Given the description of an element on the screen output the (x, y) to click on. 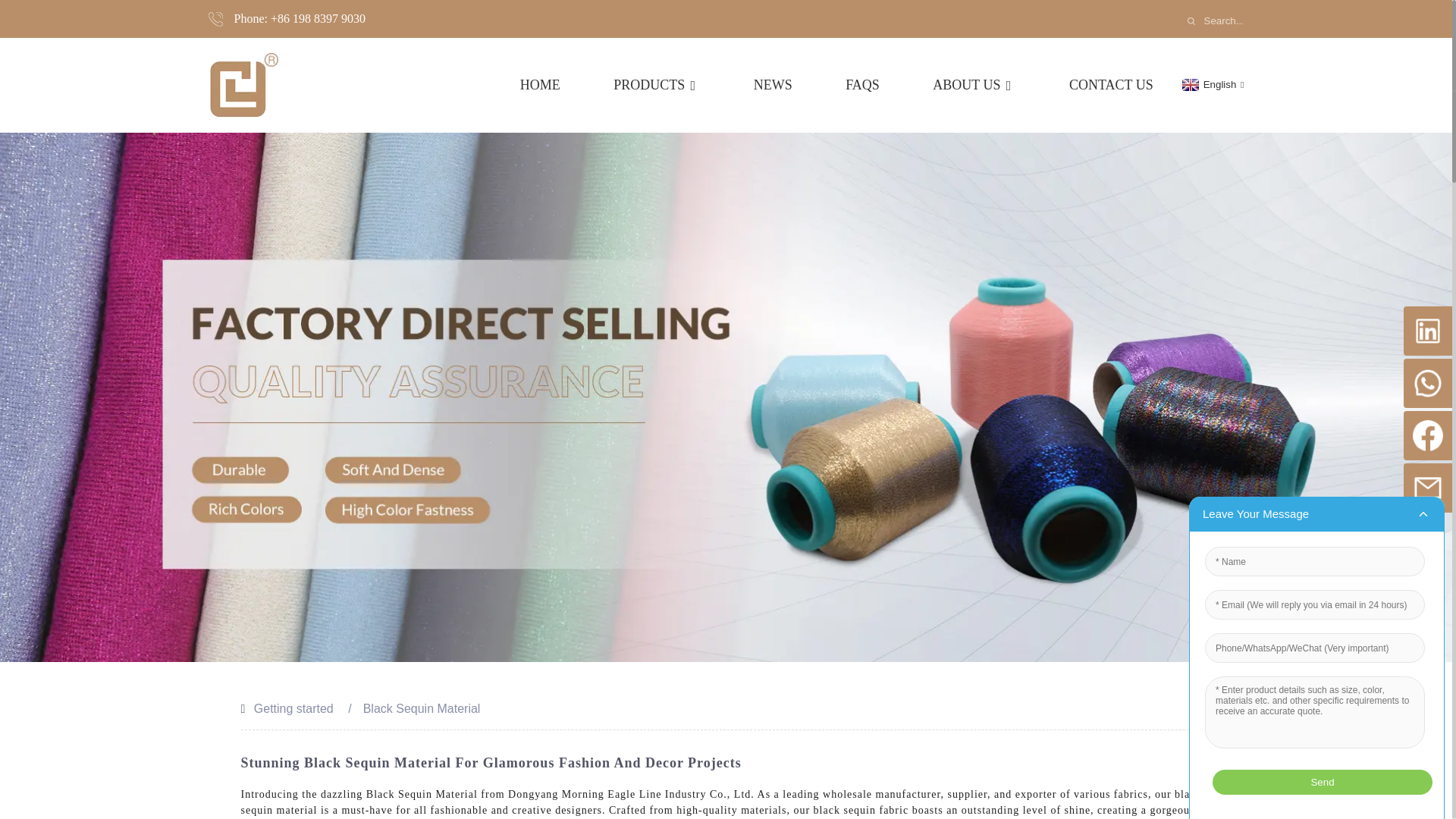
FAQS (862, 84)
Black Sequin Material (421, 707)
English (1210, 84)
NEWS (773, 84)
HOME (539, 84)
CONTACT US (1110, 84)
PRODUCTS (656, 84)
Getting started (293, 707)
ABOUT US (973, 84)
